Given the description of an element on the screen output the (x, y) to click on. 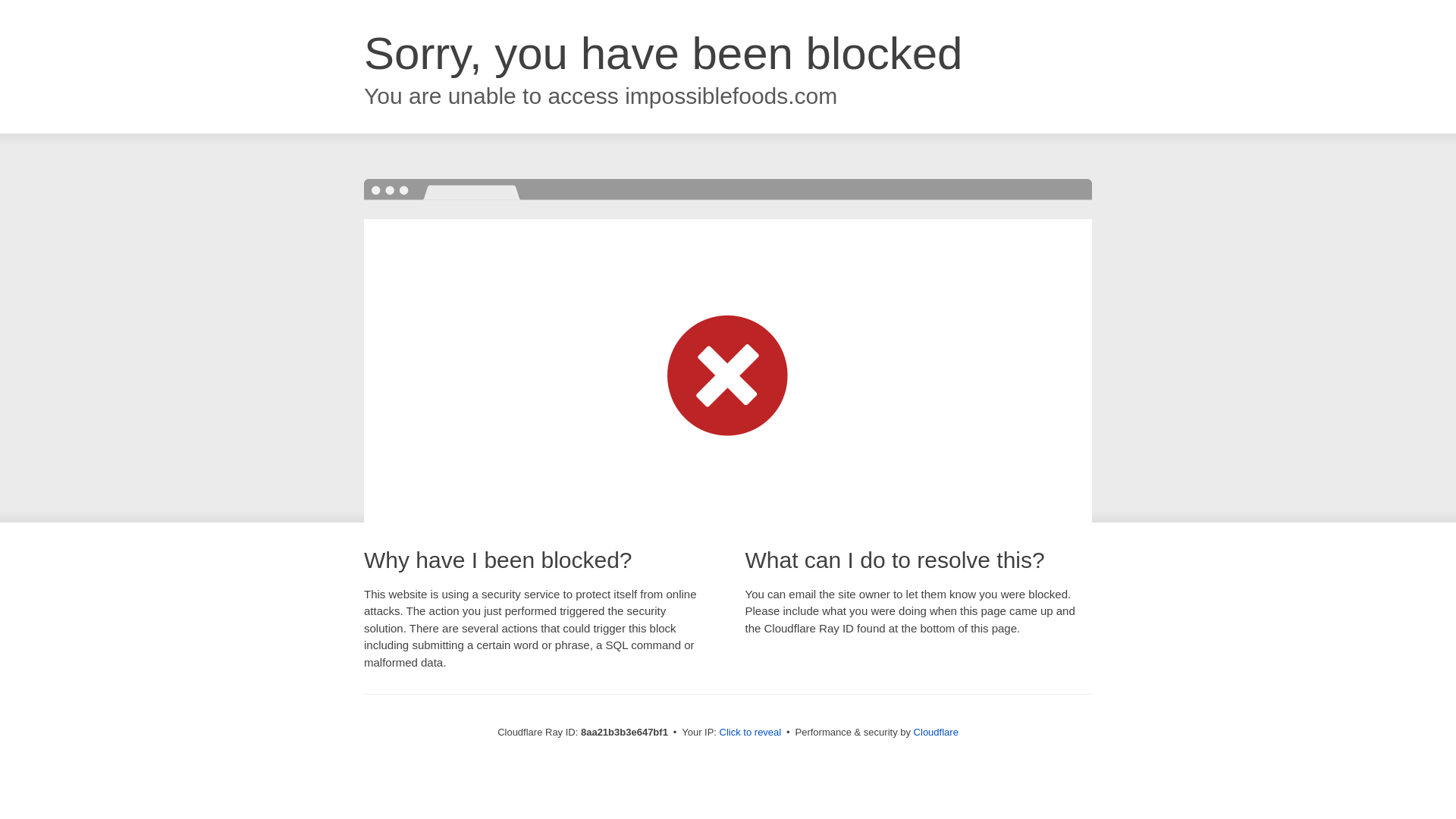
Click to reveal (750, 732)
Cloudflare (936, 731)
